Given the description of an element on the screen output the (x, y) to click on. 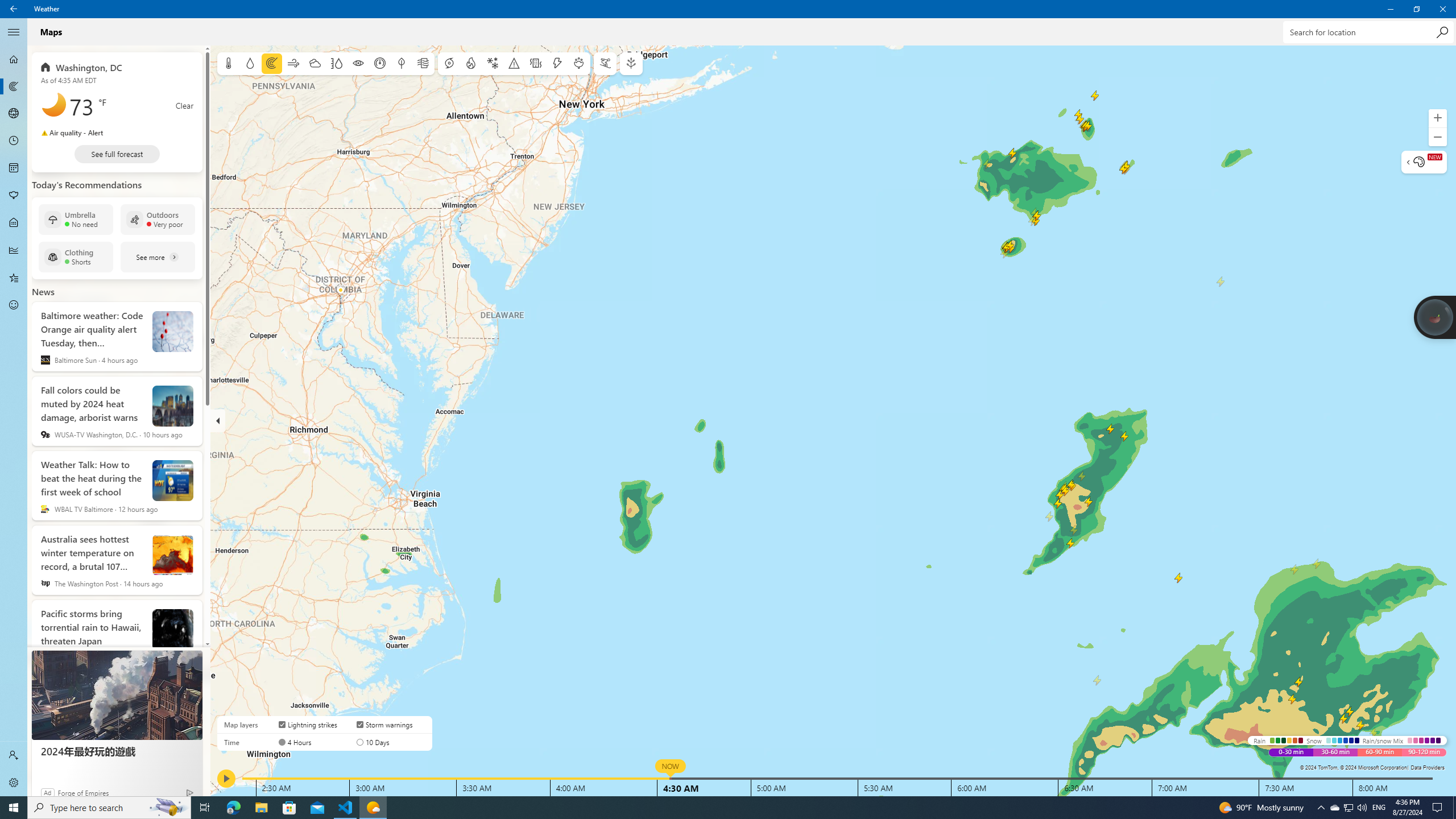
Life - Not Selected (13, 222)
Settings (13, 782)
Favorites - Not Selected (13, 277)
Monthly Forecast - Not Selected (13, 167)
Favorites - Not Selected (13, 277)
Search for location (1367, 32)
Forecast - Not Selected (13, 58)
Historical Weather - Not Selected (13, 249)
Historical Weather - Not Selected (13, 249)
